Given the description of an element on the screen output the (x, y) to click on. 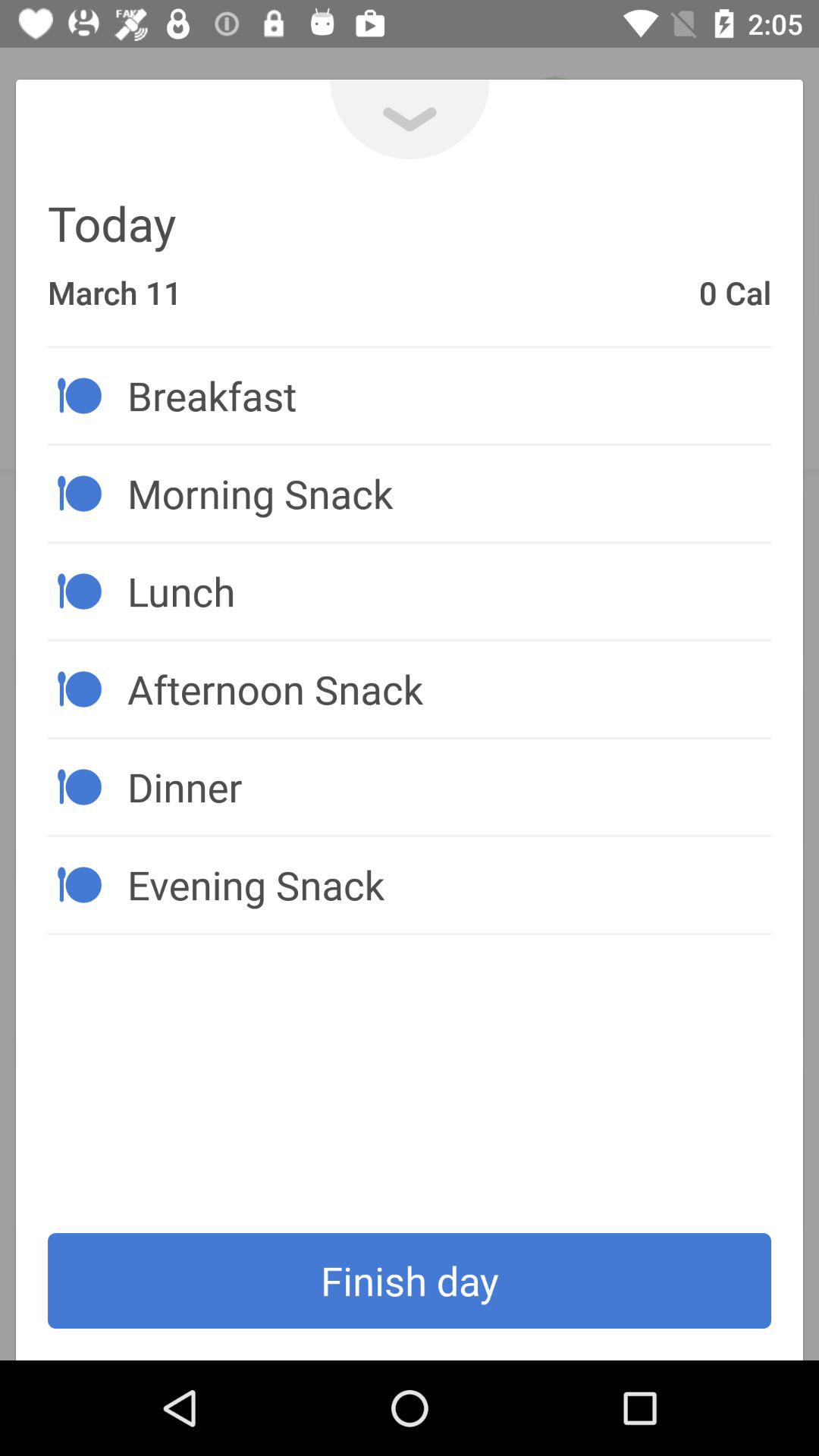
turn off the item below the lunch item (449, 688)
